Given the description of an element on the screen output the (x, y) to click on. 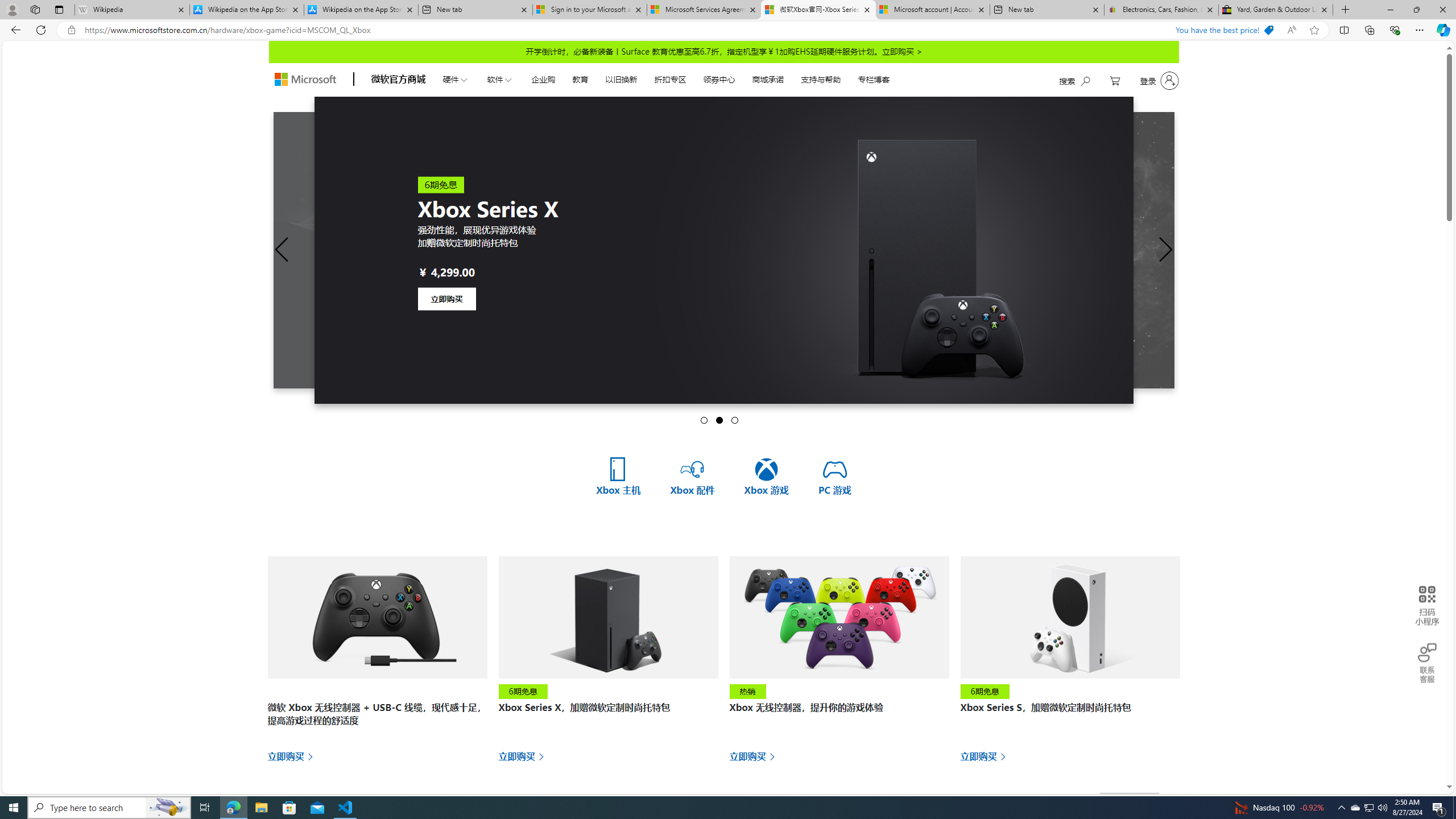
store logo (304, 79)
Xbox Series X (849, 249)
